Given the description of an element on the screen output the (x, y) to click on. 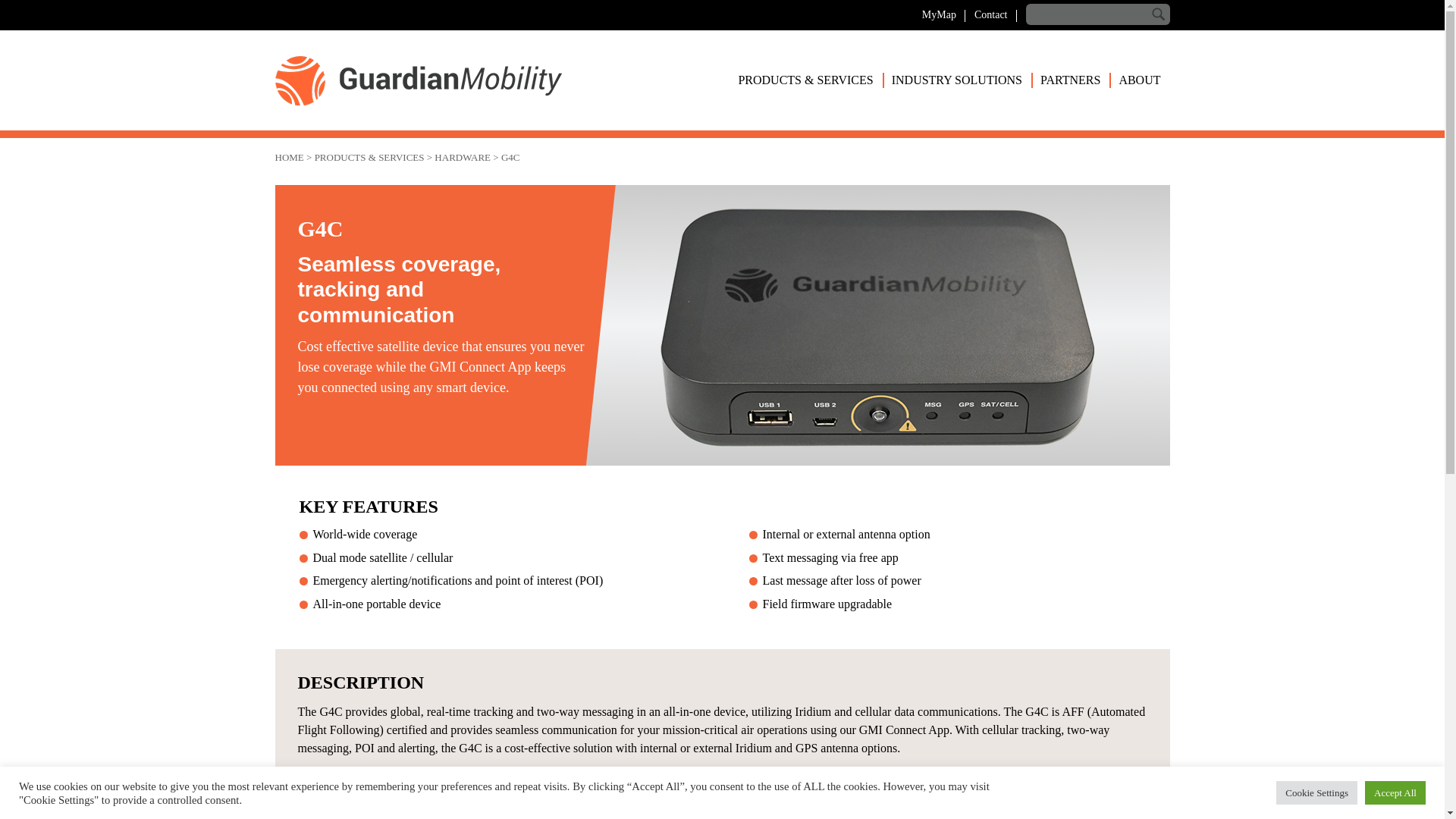
PARTNERS (1070, 80)
MyMap (938, 14)
Go to Guardian Mobility. (288, 156)
INDUSTRY SOLUTIONS (956, 80)
Search (1158, 13)
ABOUT (1139, 80)
Search (1158, 13)
Contact (990, 14)
